Given the description of an element on the screen output the (x, y) to click on. 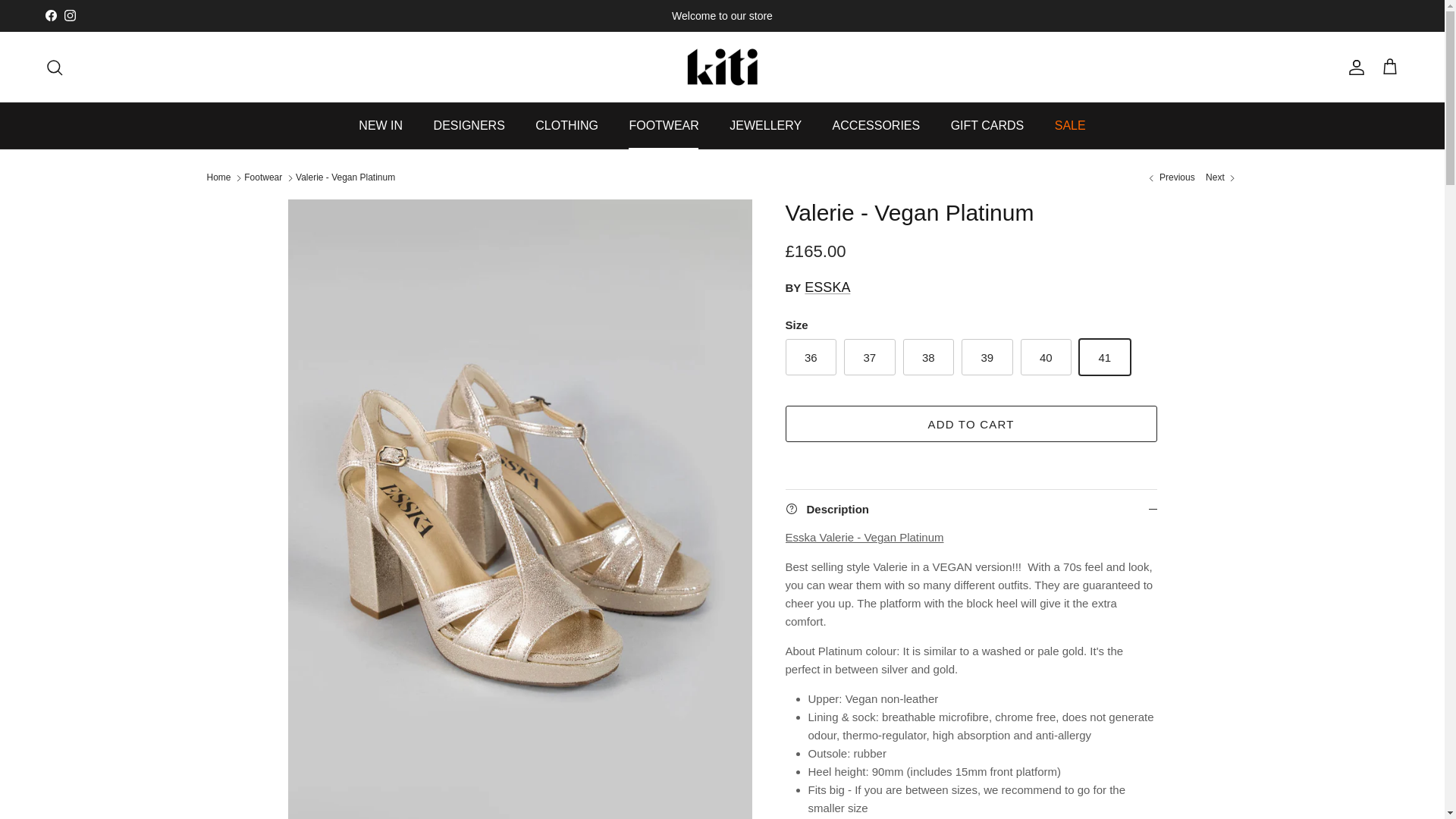
KitiCymru (722, 66)
KitiCymru on Facebook (50, 15)
Instagram (69, 15)
DESIGNERS (469, 125)
Account (1352, 67)
CLOTHING (566, 125)
KitiCymru on Instagram (69, 15)
Selena Strap Sandal (1169, 177)
Facebook (50, 15)
NEW IN (380, 125)
